Given the description of an element on the screen output the (x, y) to click on. 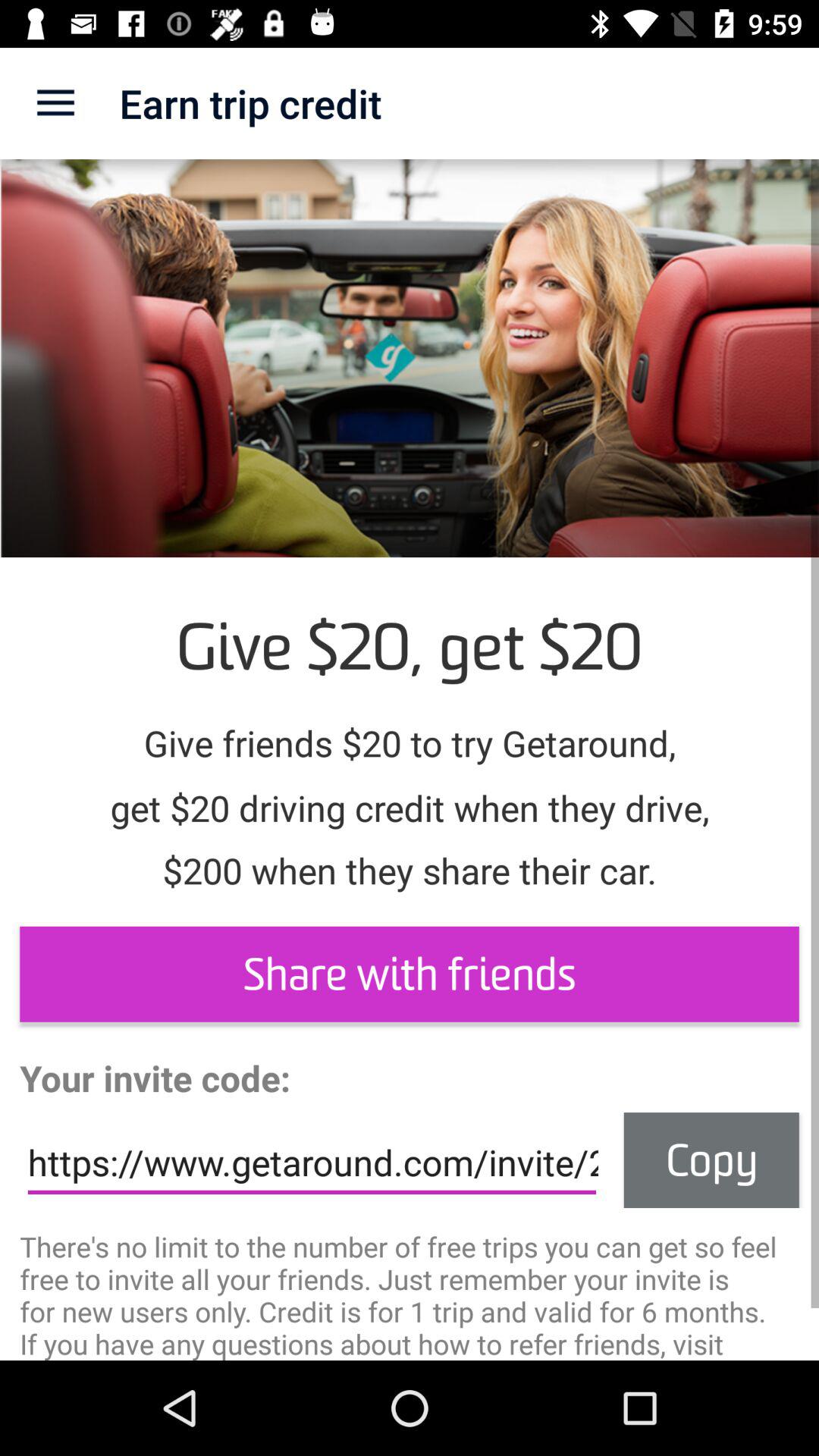
open icon next to copy item (311, 1163)
